Given the description of an element on the screen output the (x, y) to click on. 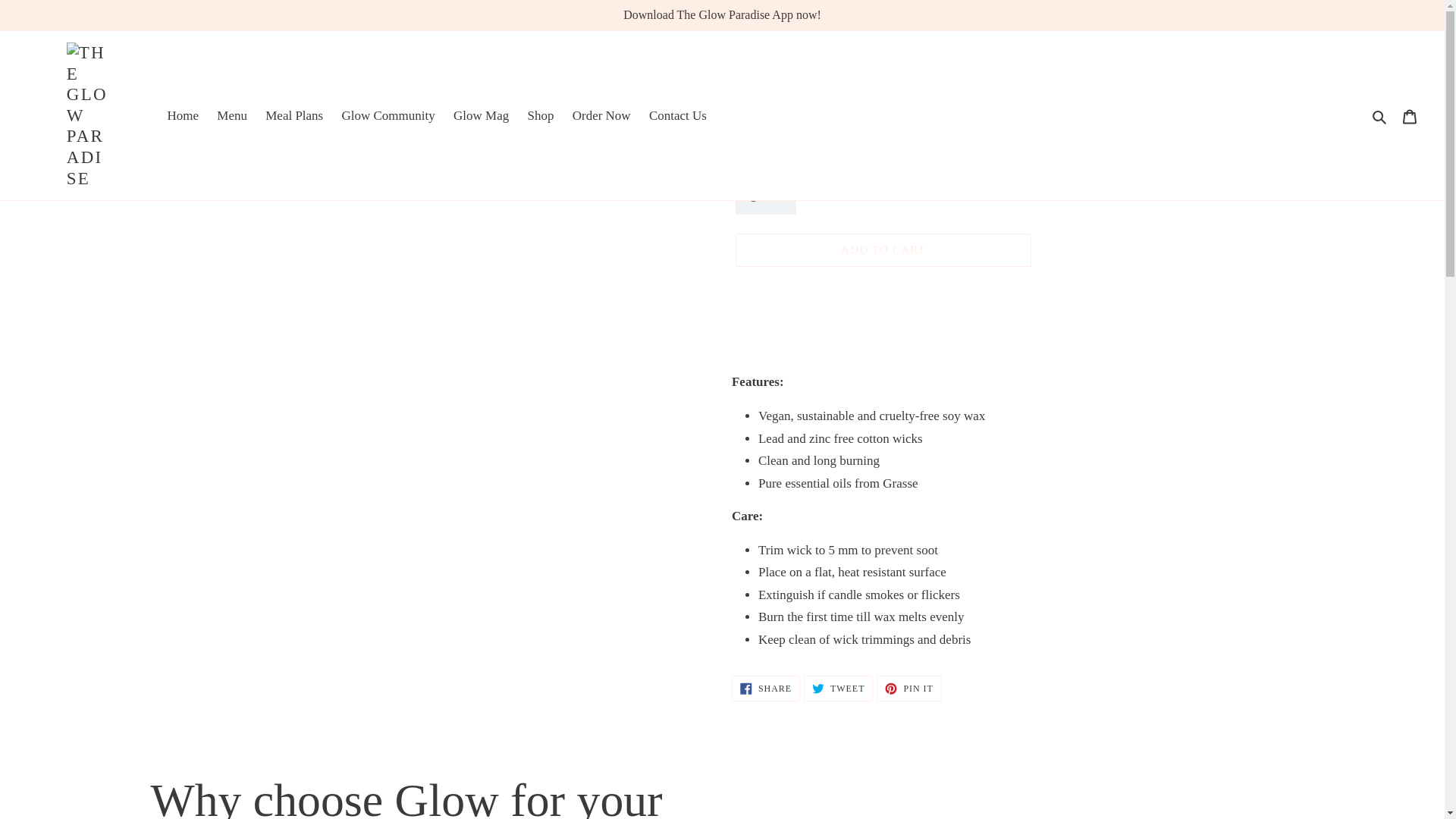
1 (765, 197)
Meal Plans (293, 115)
Contact Us (677, 115)
Order Now (601, 115)
Glow Mag (480, 115)
Menu (231, 115)
Home (182, 115)
Glow Community (386, 115)
Search (1380, 115)
Shop (540, 115)
